Given the description of an element on the screen output the (x, y) to click on. 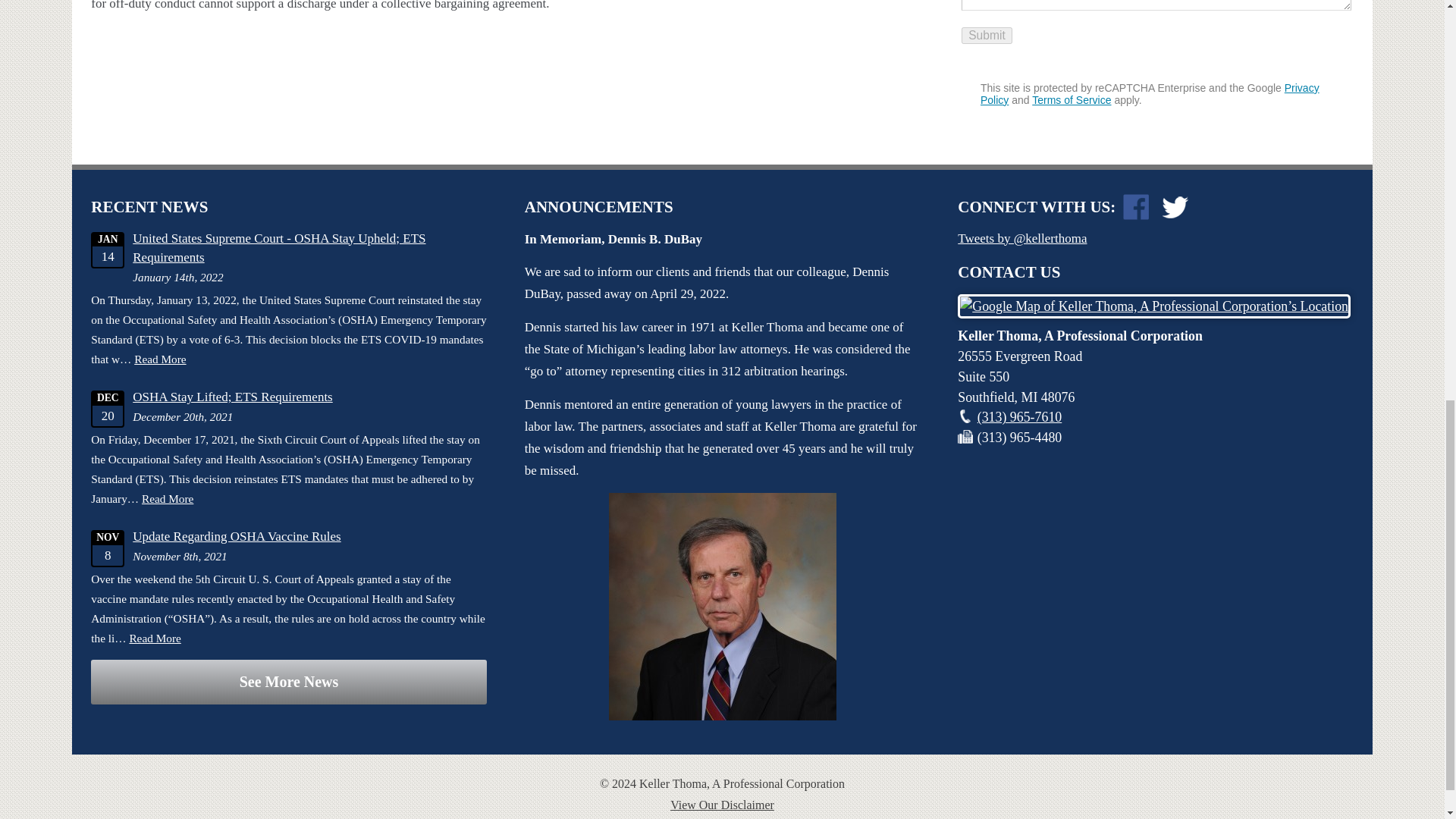
Update Regarding OSHA Vaccine Rules (236, 536)
Read More (154, 637)
Read More (159, 358)
Read More (167, 498)
See More News (288, 682)
OSHA Stay Lifted; ETS Requirements (231, 396)
